Given the description of an element on the screen output the (x, y) to click on. 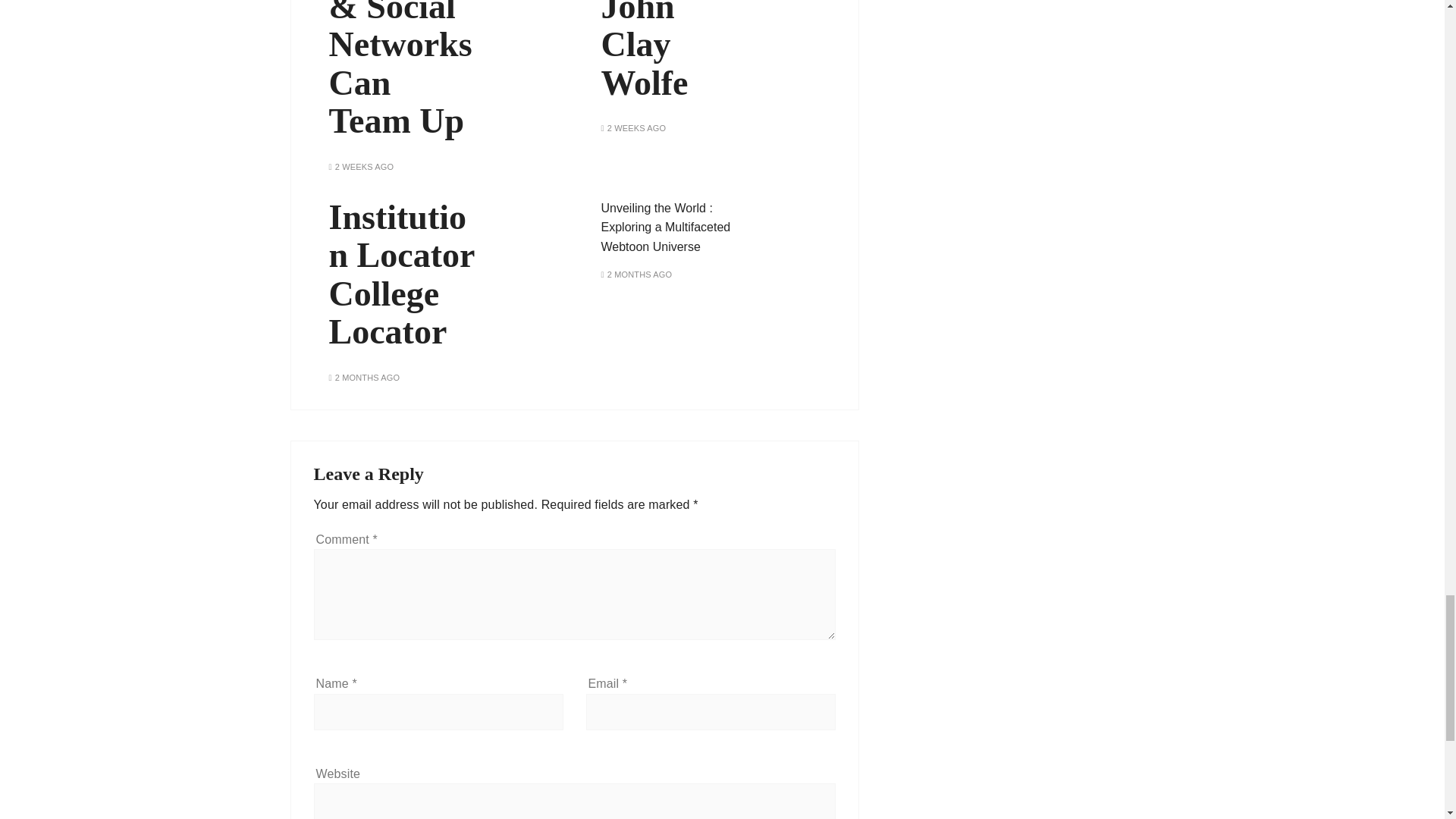
The John Clay Wolfe Reveal John Clay Wolfe (674, 51)
Institution Locator College Locator (404, 275)
